Given the description of an element on the screen output the (x, y) to click on. 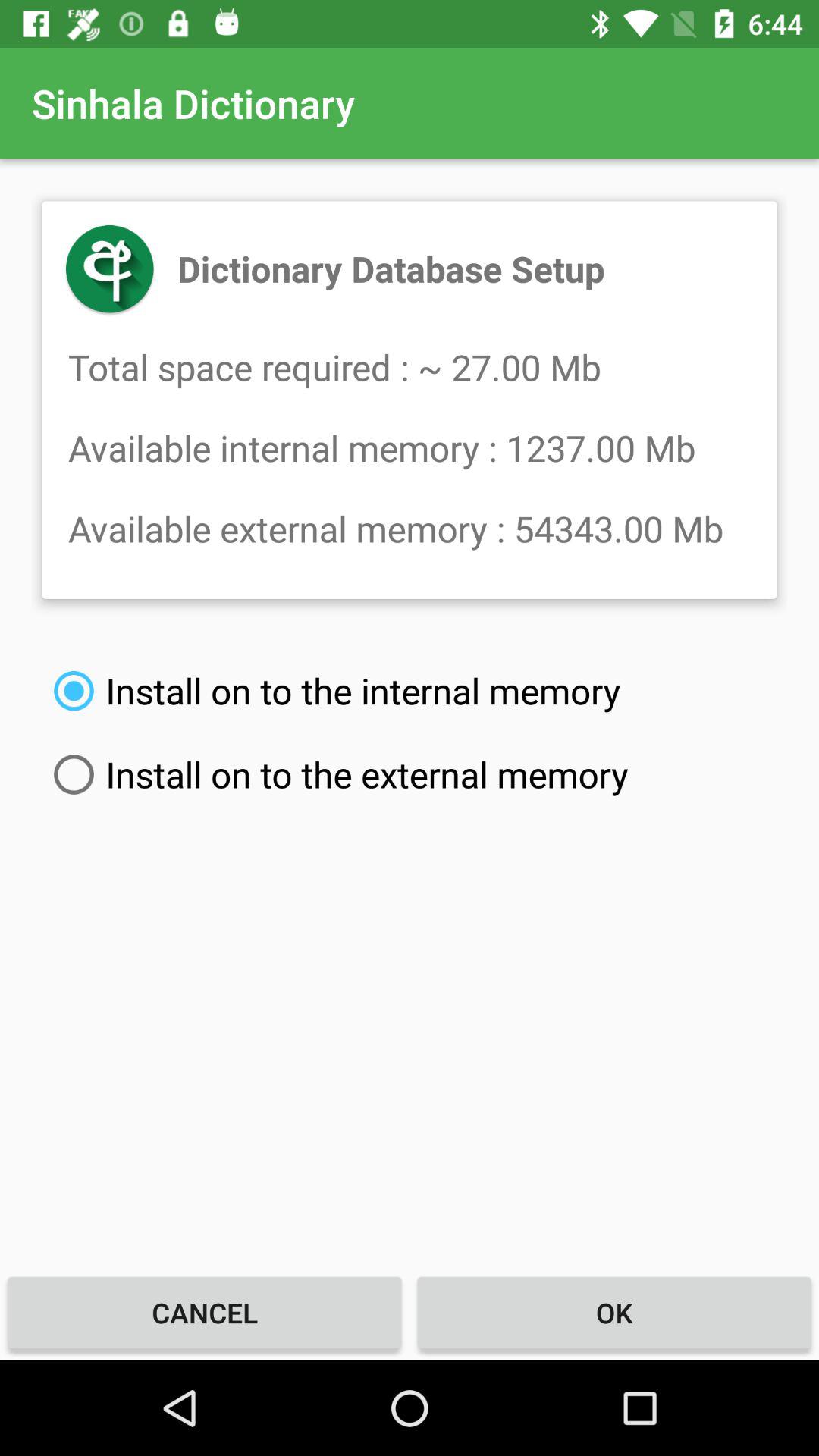
turn off the icon next to cancel item (614, 1312)
